Given the description of an element on the screen output the (x, y) to click on. 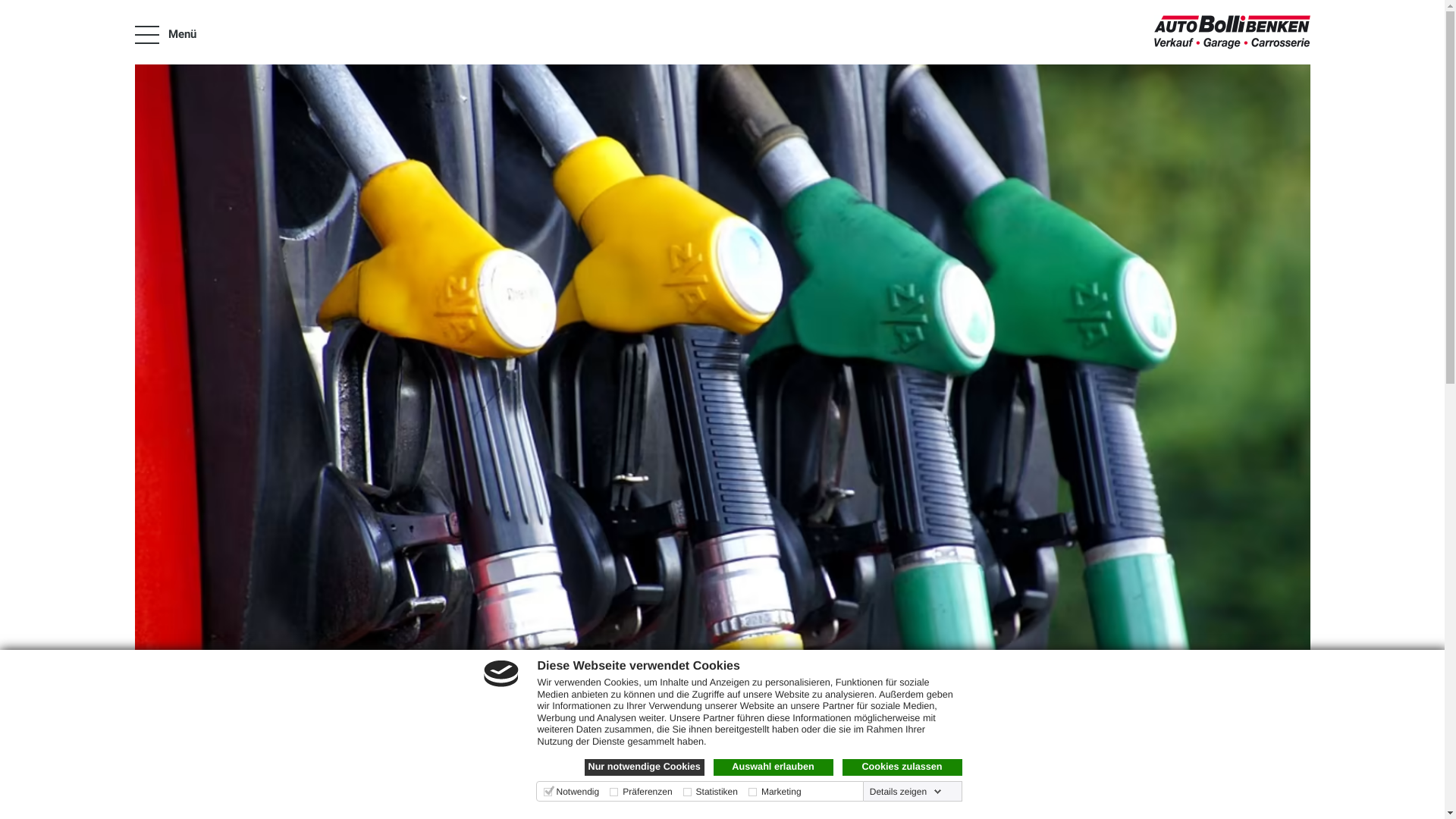
Cookies zulassen Element type: text (901, 767)
Details zeigen Element type: text (905, 791)
Auswahl erlauben Element type: text (772, 767)
Nur notwendige Cookies Element type: text (643, 767)
